Given the description of an element on the screen output the (x, y) to click on. 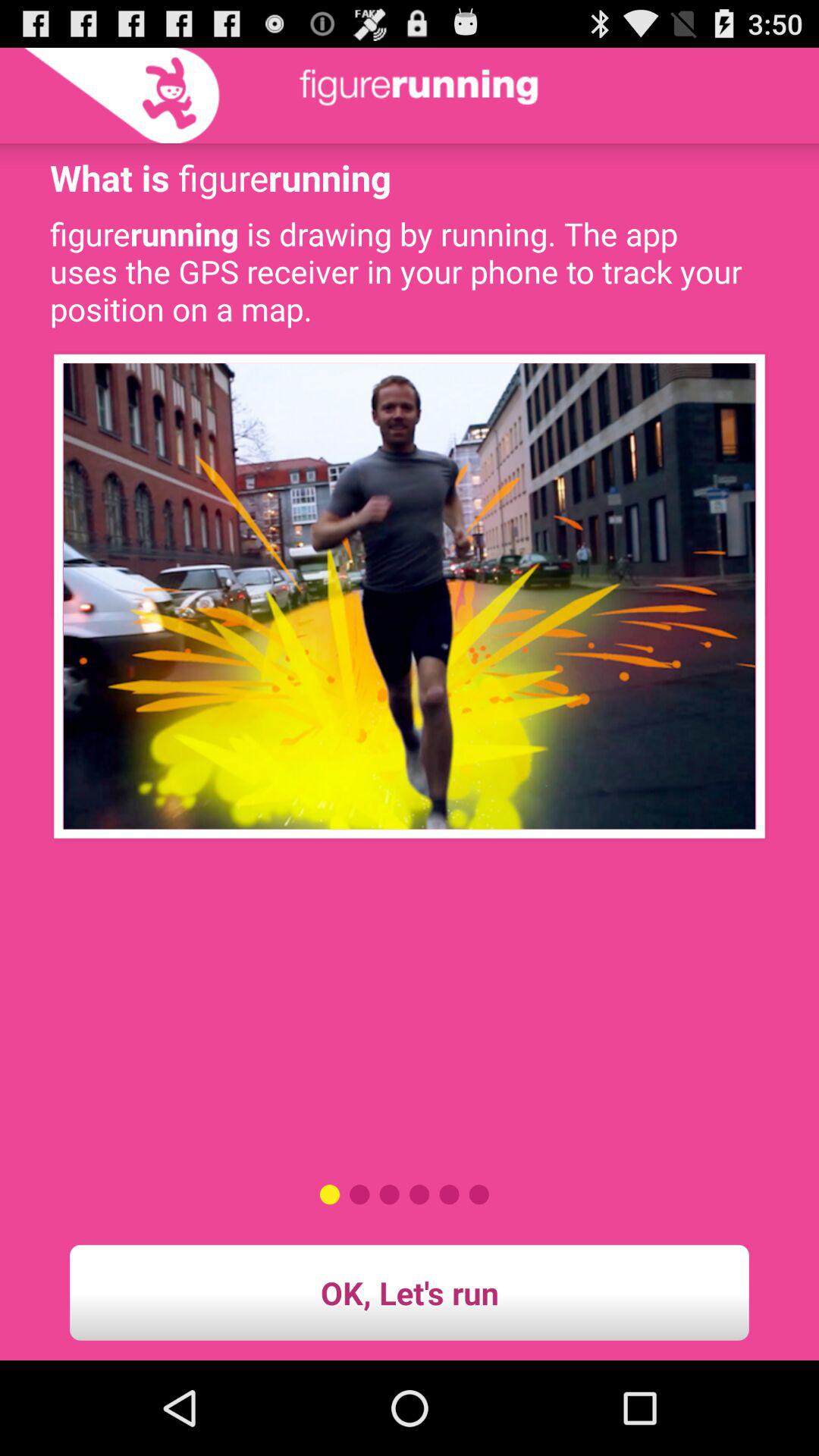
flip until ok let s button (409, 1292)
